Given the description of an element on the screen output the (x, y) to click on. 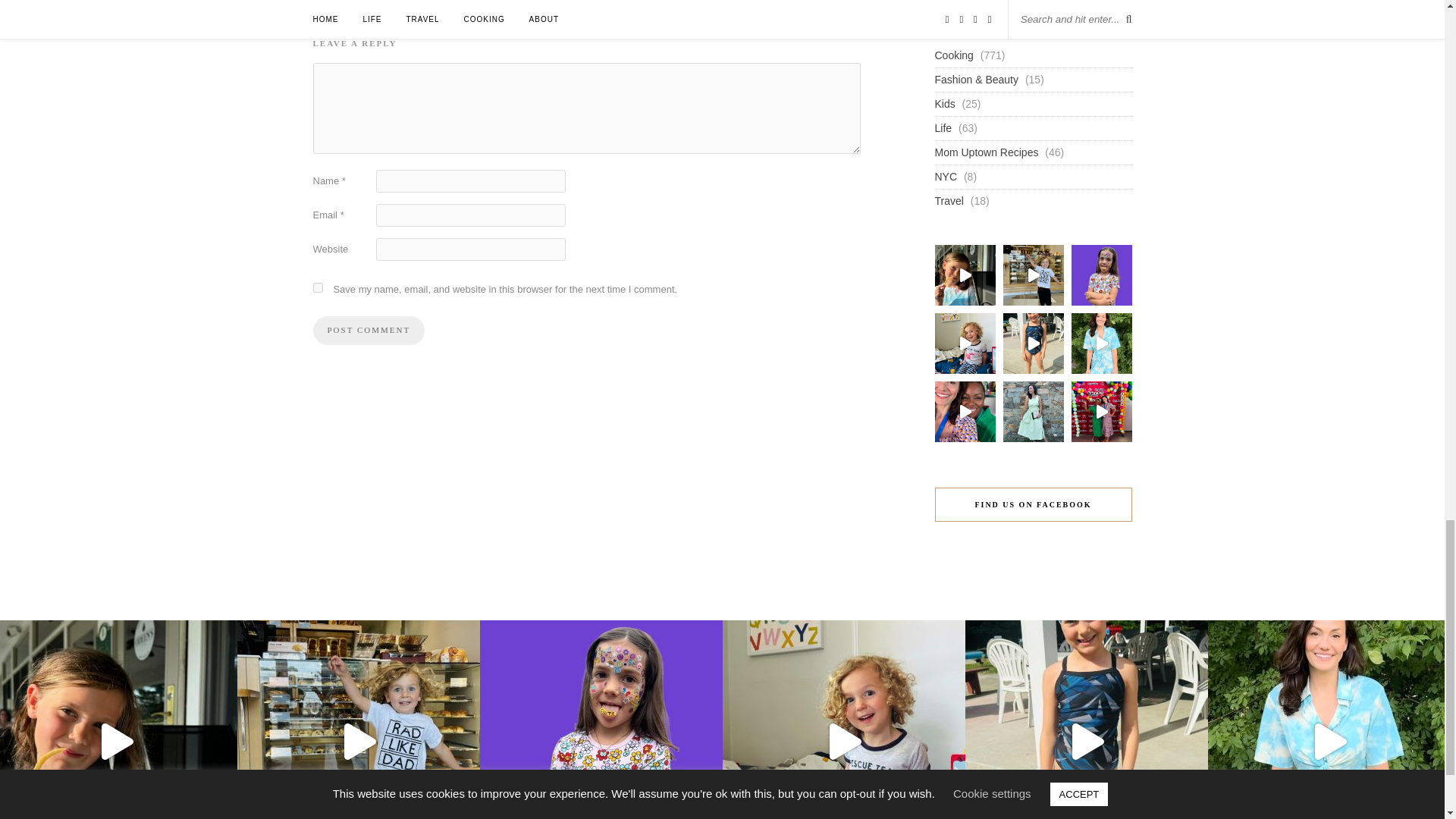
Post Comment (369, 330)
Post Comment (369, 330)
yes (317, 287)
